Given the description of an element on the screen output the (x, y) to click on. 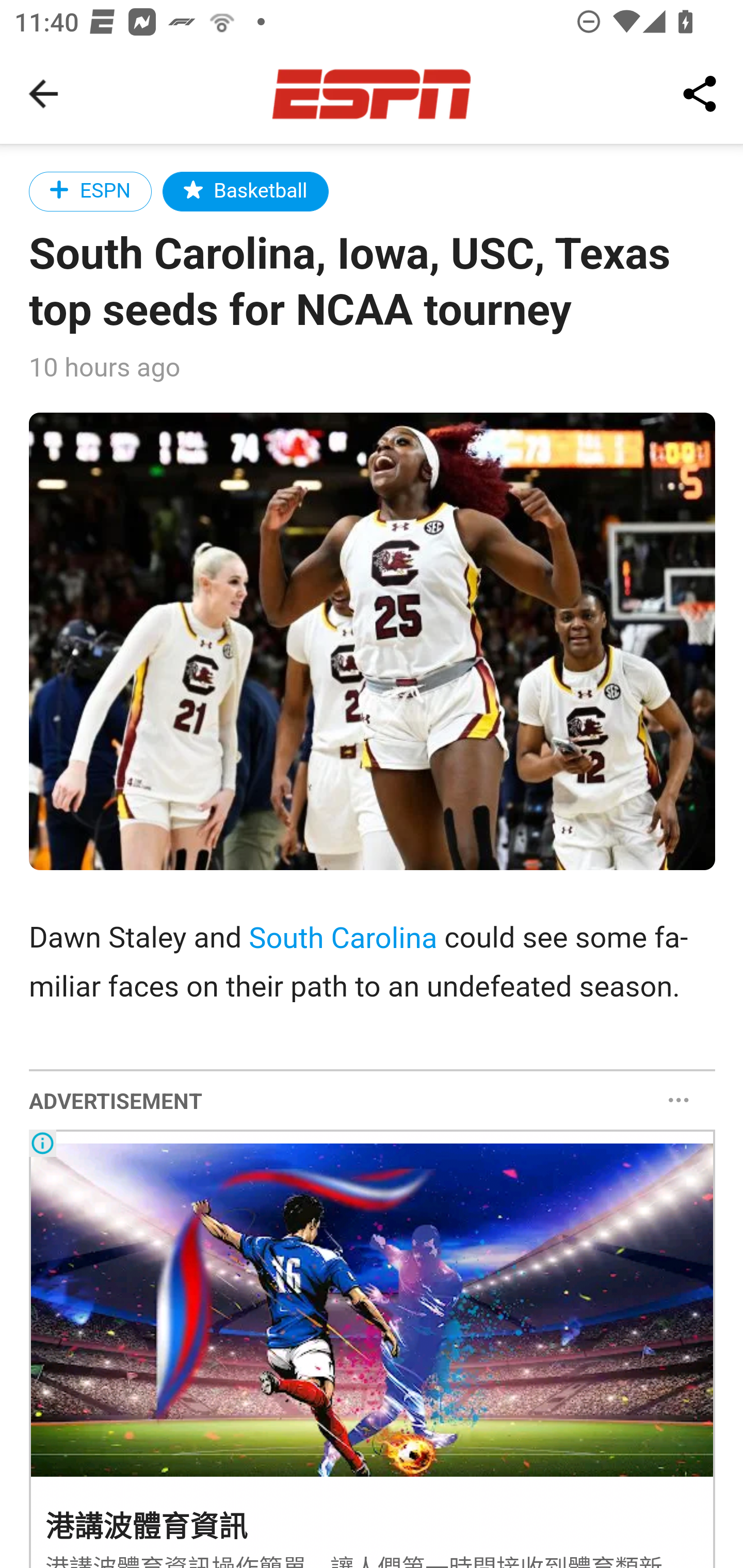
ESPN (90, 191)
Basketball (245, 191)
South Carolina (342, 937)
